Given the description of an element on the screen output the (x, y) to click on. 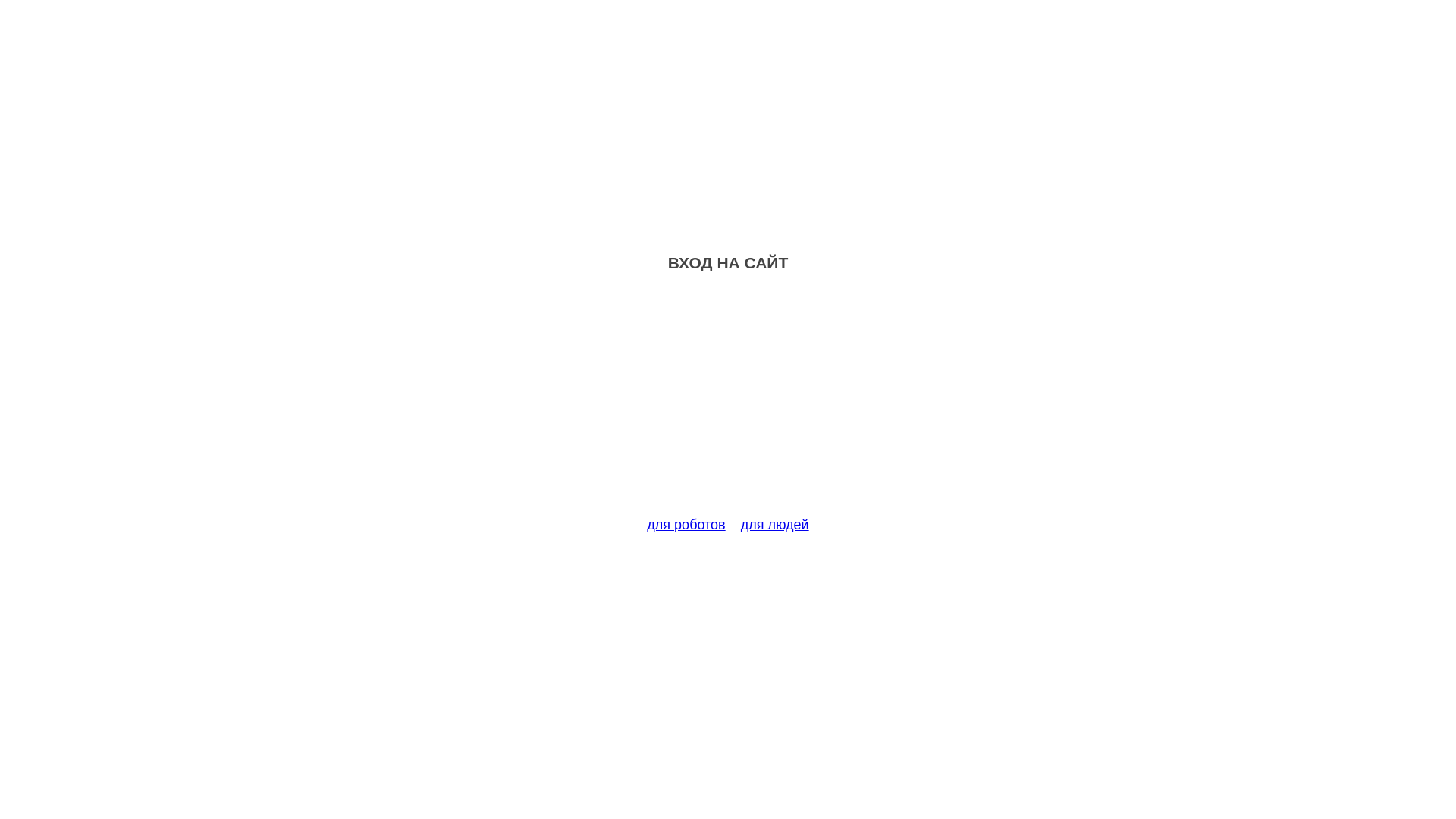
Advertisement Element type: hover (727, 403)
